Given the description of an element on the screen output the (x, y) to click on. 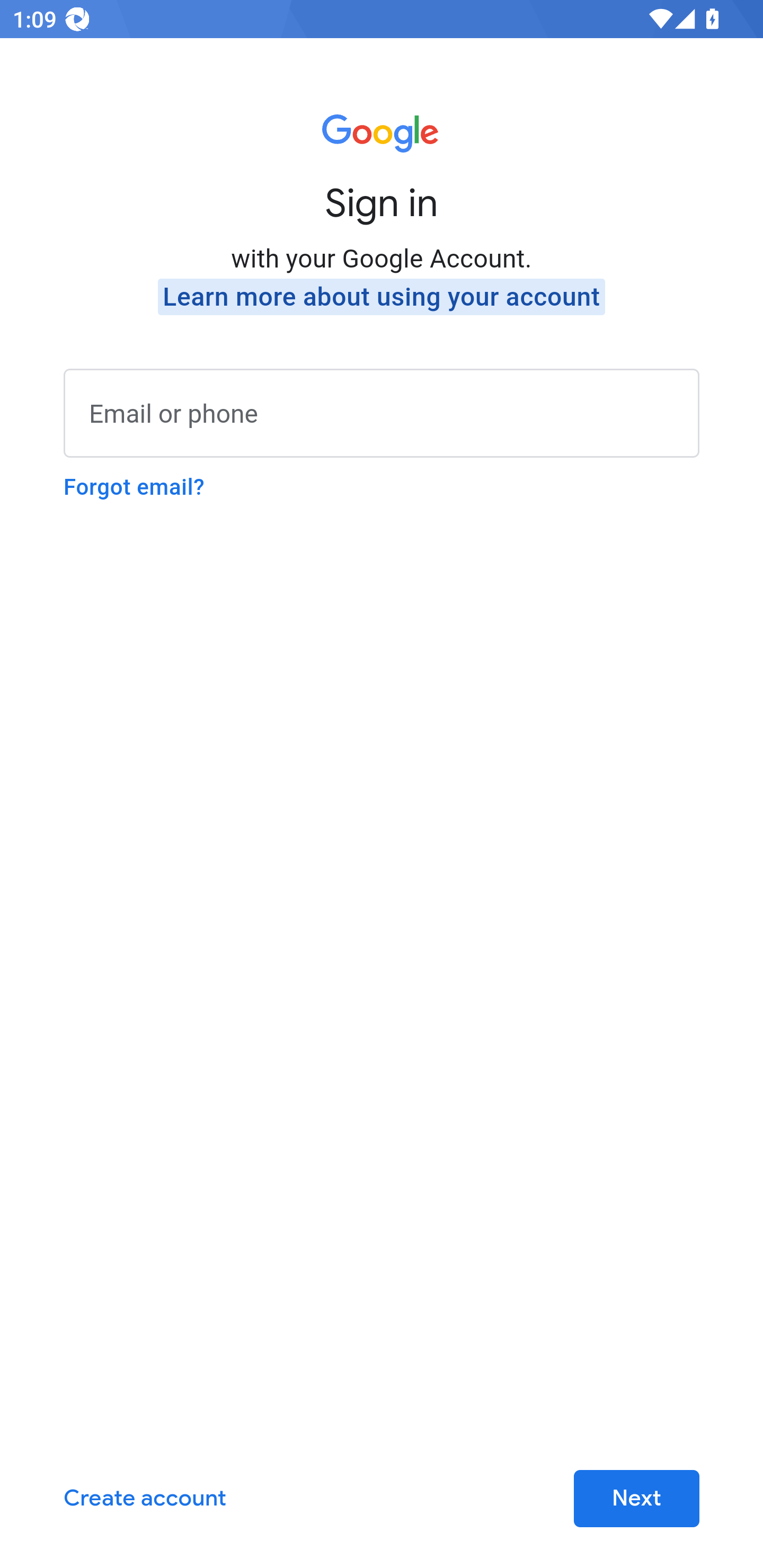
Learn more about using your account (381, 296)
Forgot email? (133, 486)
Create account (145, 1498)
Next (635, 1498)
